Given the description of an element on the screen output the (x, y) to click on. 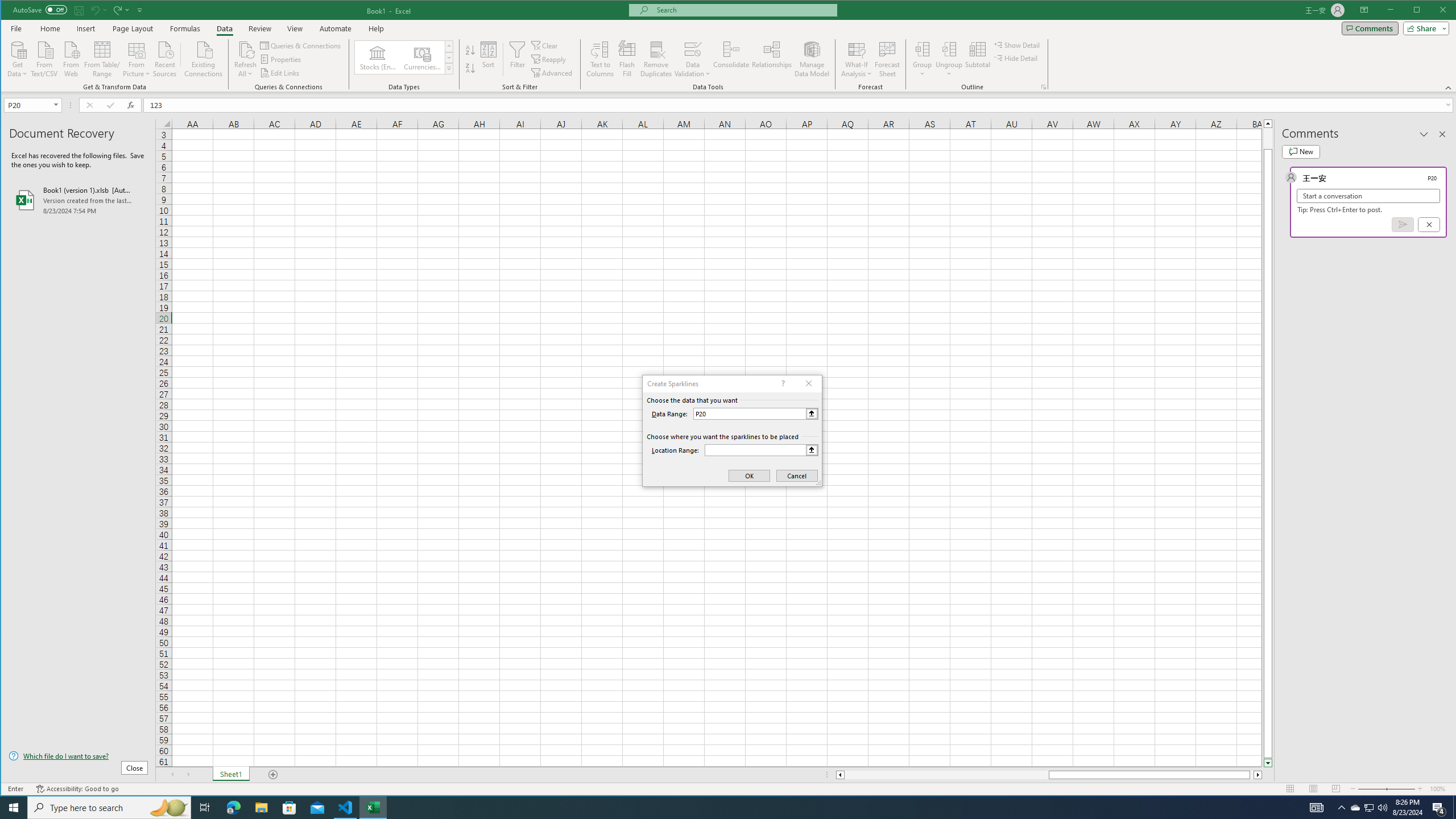
Existing Connections (203, 57)
From Text/CSV (44, 57)
Cancel (1428, 224)
From Table/Range (102, 57)
